Given the description of an element on the screen output the (x, y) to click on. 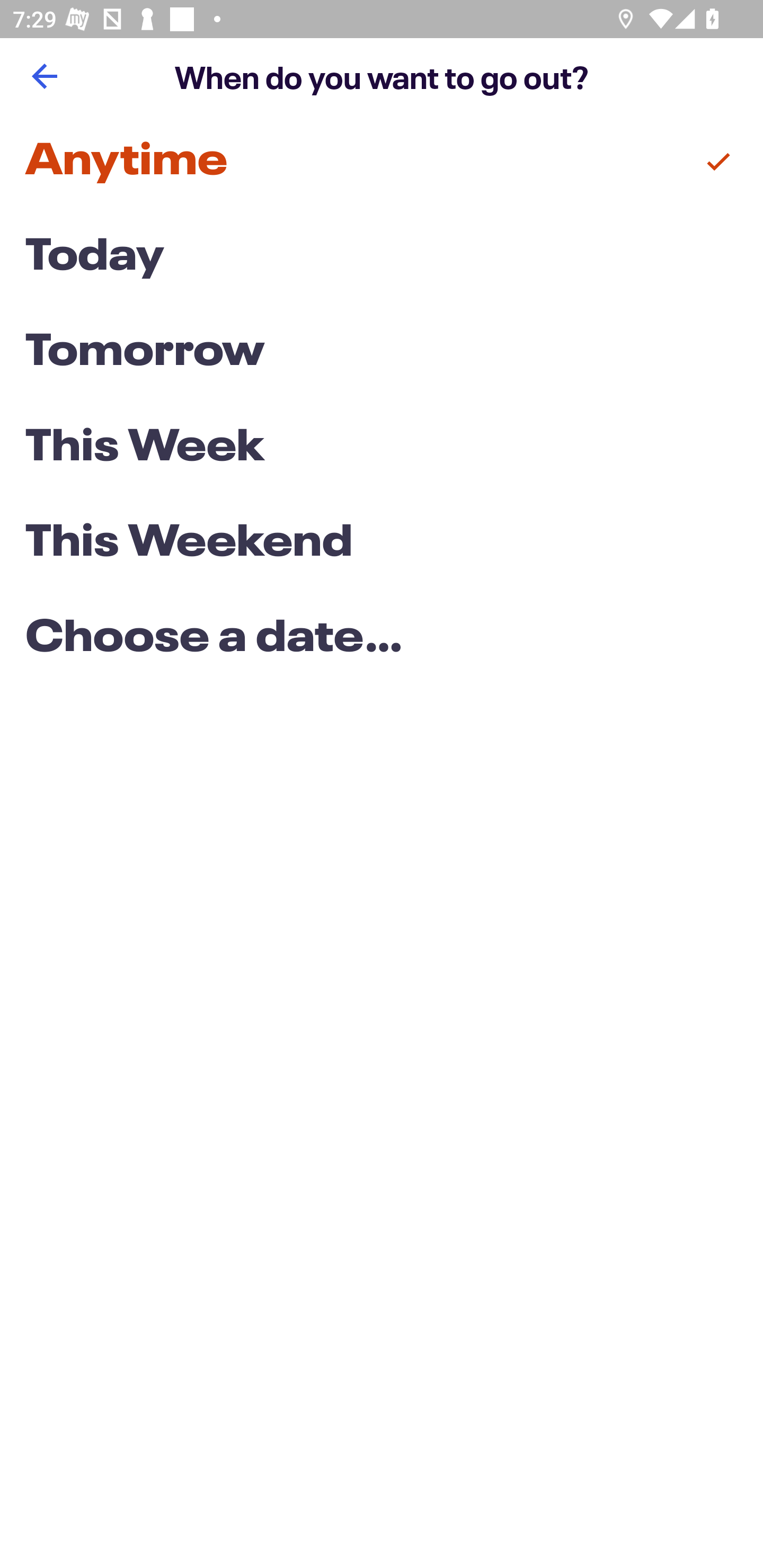
Back button (44, 75)
Anytime (381, 161)
Today (381, 257)
Tomorrow (381, 352)
This Week (381, 447)
This Weekend (381, 542)
Choose a date… (381, 638)
